Given the description of an element on the screen output the (x, y) to click on. 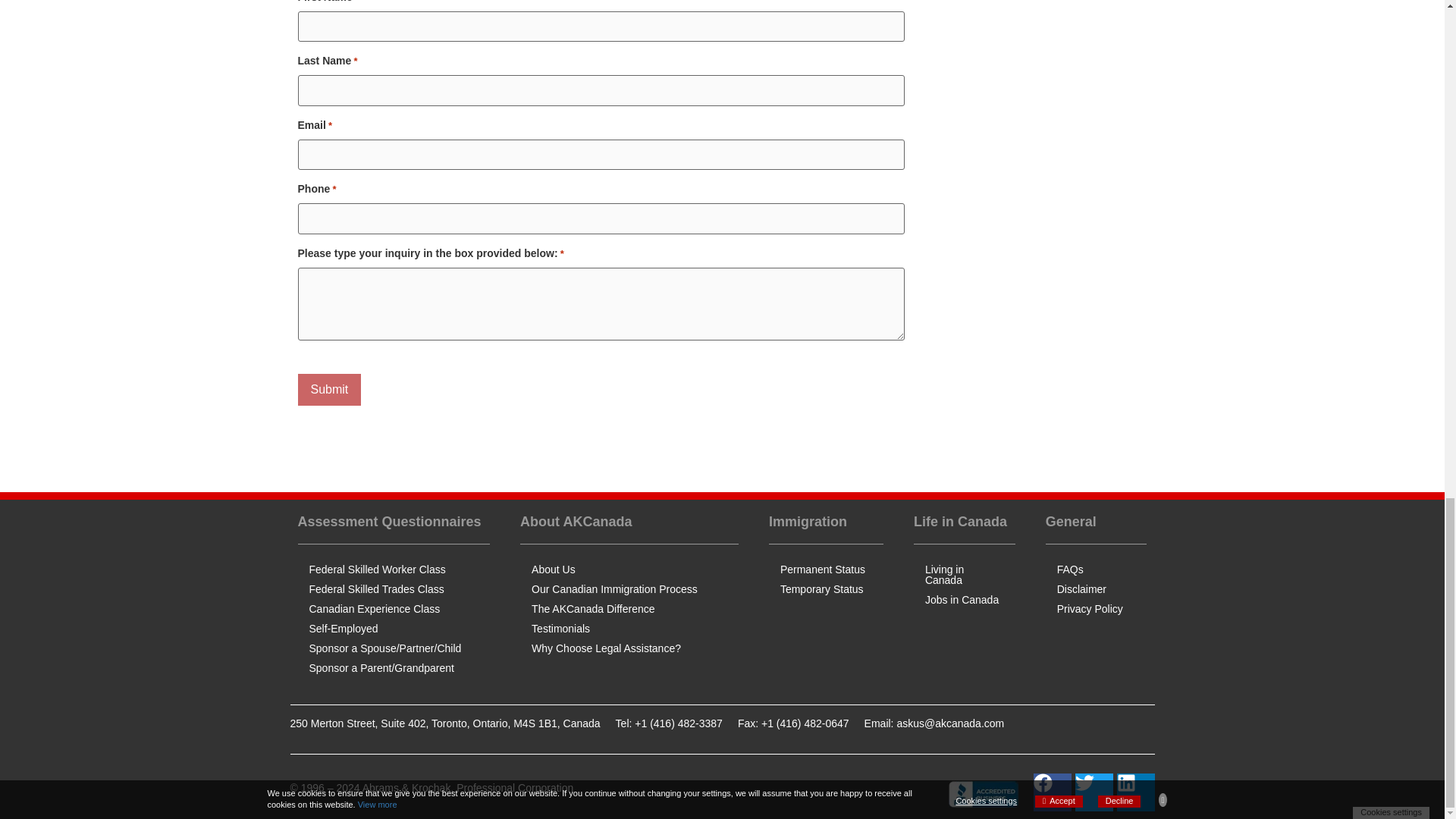
Submit (329, 389)
Submit (329, 389)
Federal Skilled Worker Class (393, 569)
Federal Skilled Trades Class (393, 588)
